Given the description of an element on the screen output the (x, y) to click on. 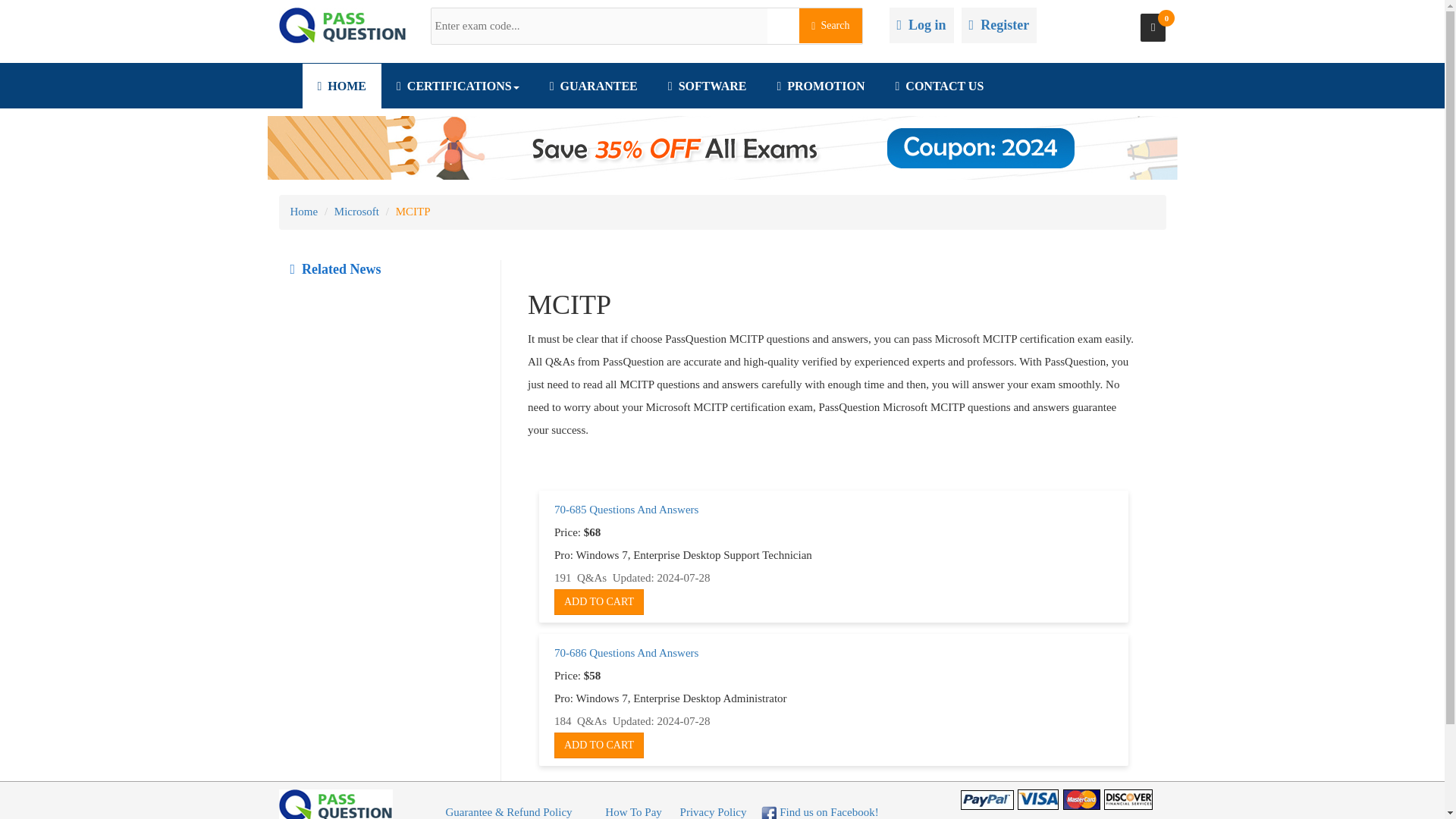
Home (303, 211)
ADD TO CART (598, 601)
ADD TO CART (598, 745)
0 (1153, 27)
  Log in (920, 25)
70-685 Questions And Answers (626, 509)
Microsoft (356, 211)
  Register (999, 25)
  CERTIFICATIONS (457, 85)
70-686 Questions And Answers (626, 653)
  PROMOTION (820, 85)
  Search (830, 25)
  GUARANTEE (593, 85)
  CONTACT US (938, 85)
  SOFTWARE (706, 85)
